Given the description of an element on the screen output the (x, y) to click on. 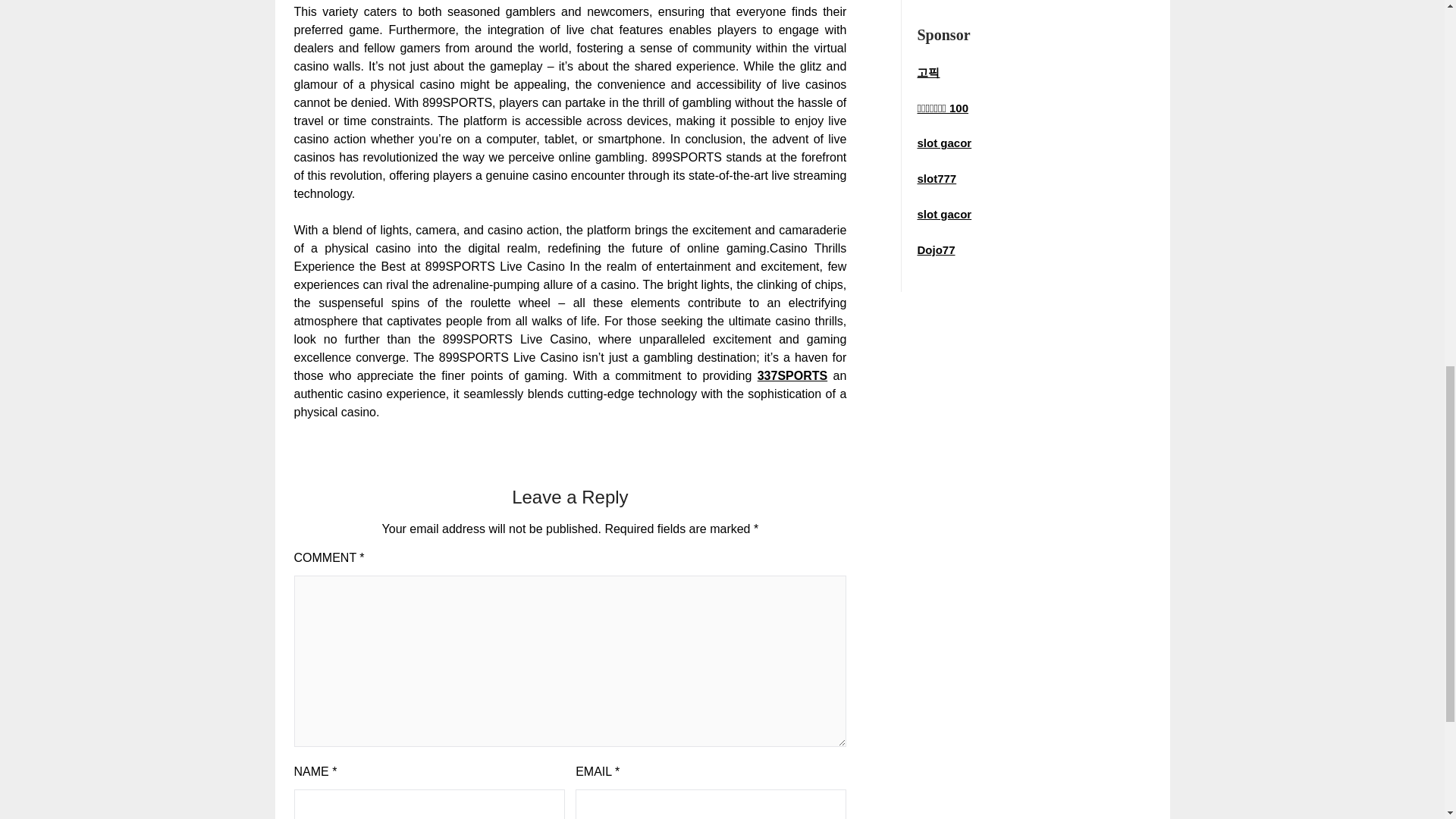
slot777 (936, 178)
Dojo77 (936, 249)
slot gacor (944, 142)
slot gacor (944, 214)
337SPORTS (792, 375)
